Given the description of an element on the screen output the (x, y) to click on. 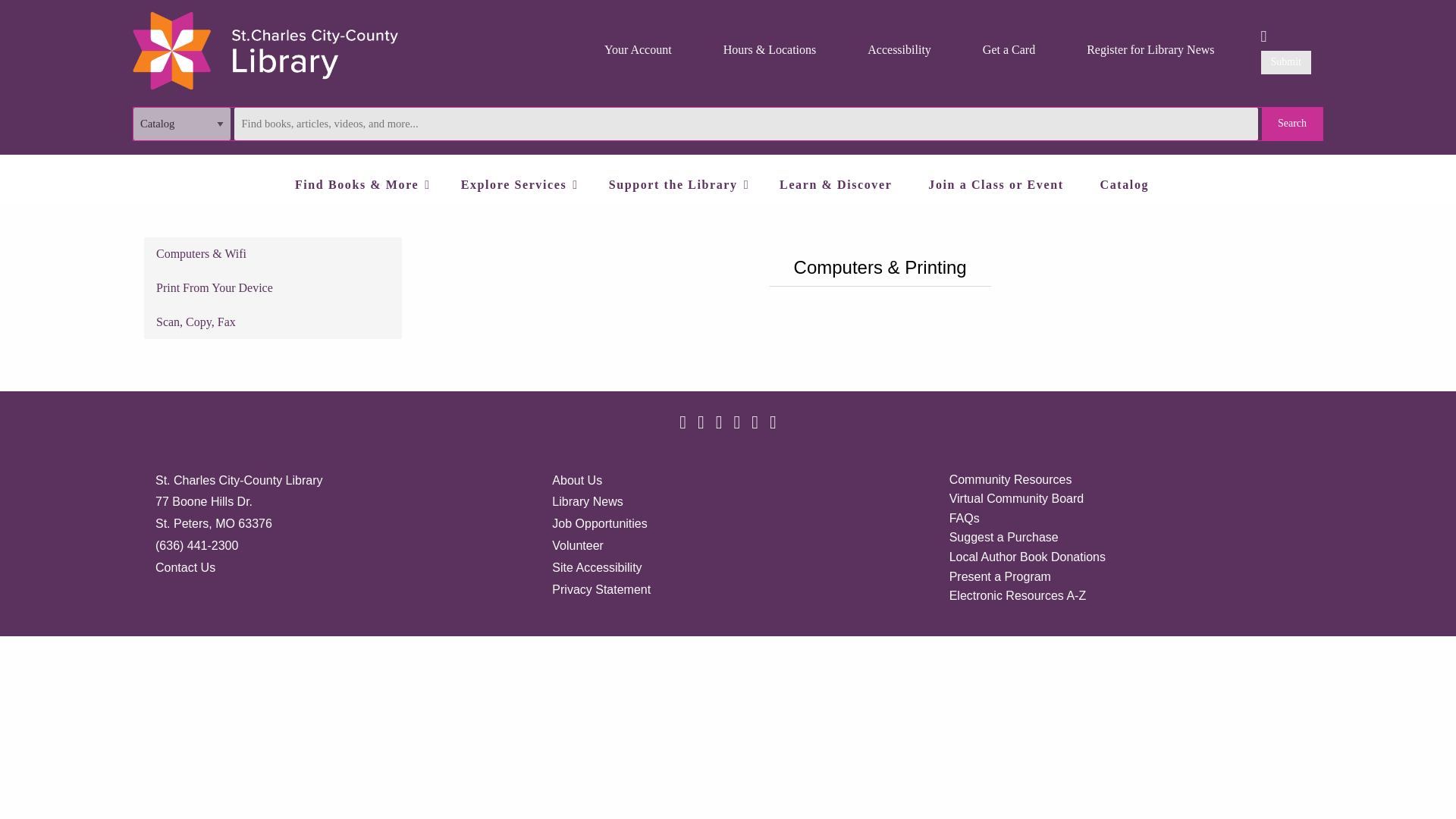
Register for Library News (1150, 49)
Your Account (637, 49)
Submit (1285, 61)
Submit (1285, 61)
Search (1292, 123)
Get a Card (1008, 49)
Accessibility (899, 49)
